Given the description of an element on the screen output the (x, y) to click on. 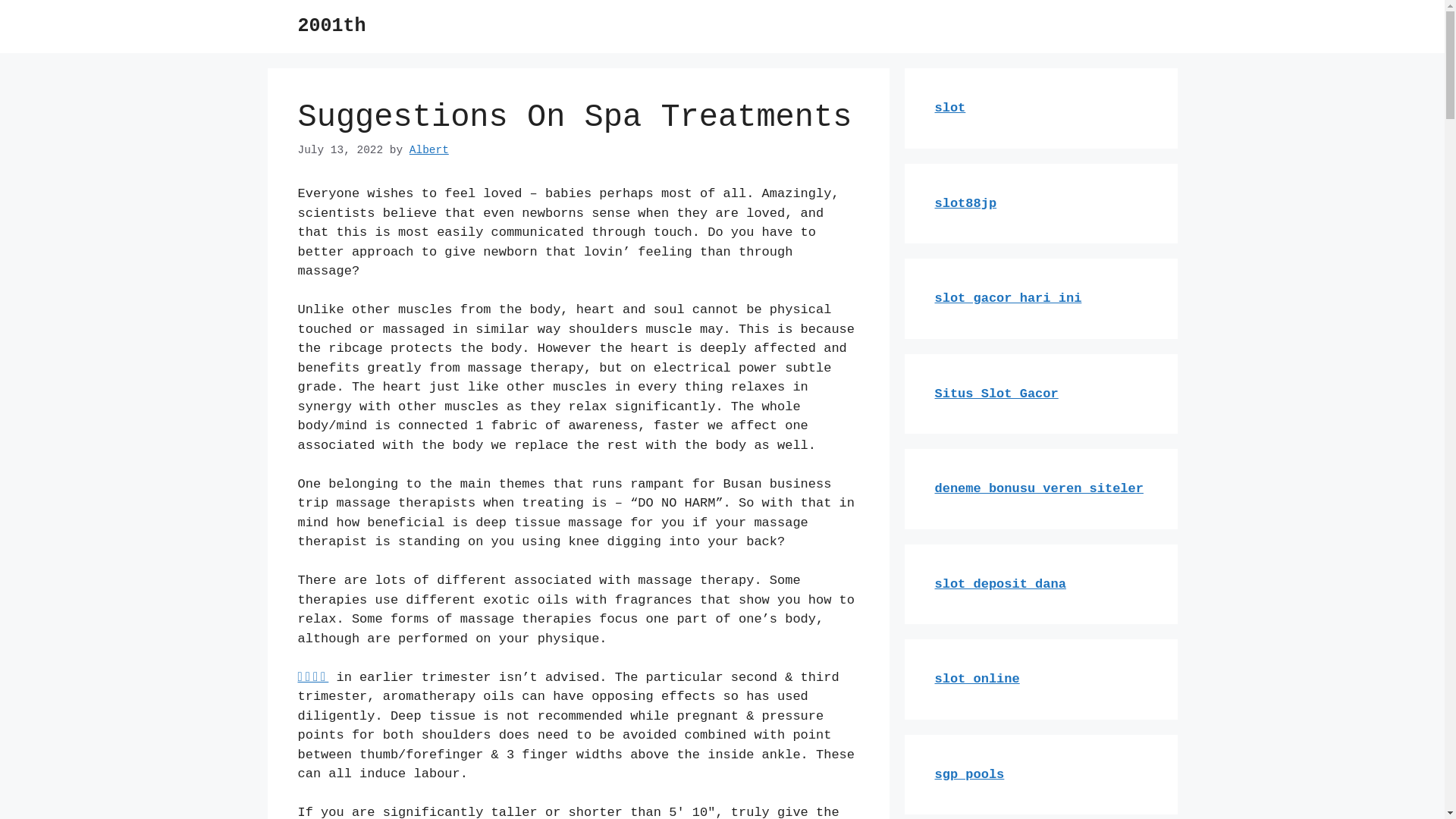
slot deposit dana Element type: text (999, 583)
Situs Slot Gacor Element type: text (995, 393)
slot online Element type: text (976, 678)
deneme bonusu veren siteler Element type: text (1038, 488)
sgp pools Element type: text (969, 774)
2001th Element type: text (331, 26)
slot gacor hari ini Element type: text (1007, 298)
slot Element type: text (949, 107)
slot88jp Element type: text (965, 202)
Albert Element type: text (428, 150)
